Given the description of an element on the screen output the (x, y) to click on. 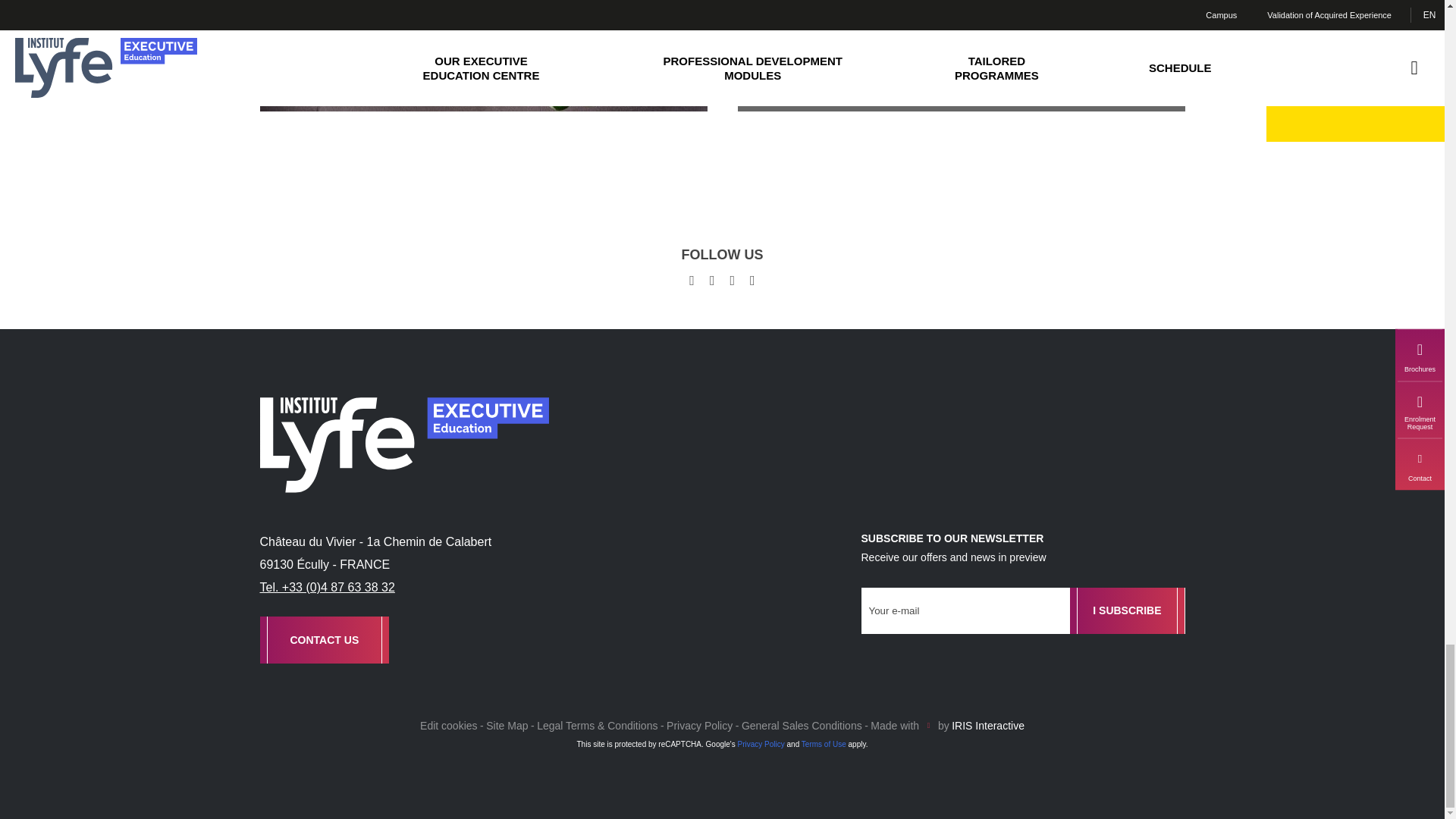
Creative Cooking Techniques (482, 73)
Contact (323, 639)
CREATIVE COOKING TECHNIQUES (482, 73)
CONTEMPORARY CUISINE (960, 73)
love (927, 722)
IRIS Interactive (988, 725)
Contemporary Cuisine (960, 73)
